Given the description of an element on the screen output the (x, y) to click on. 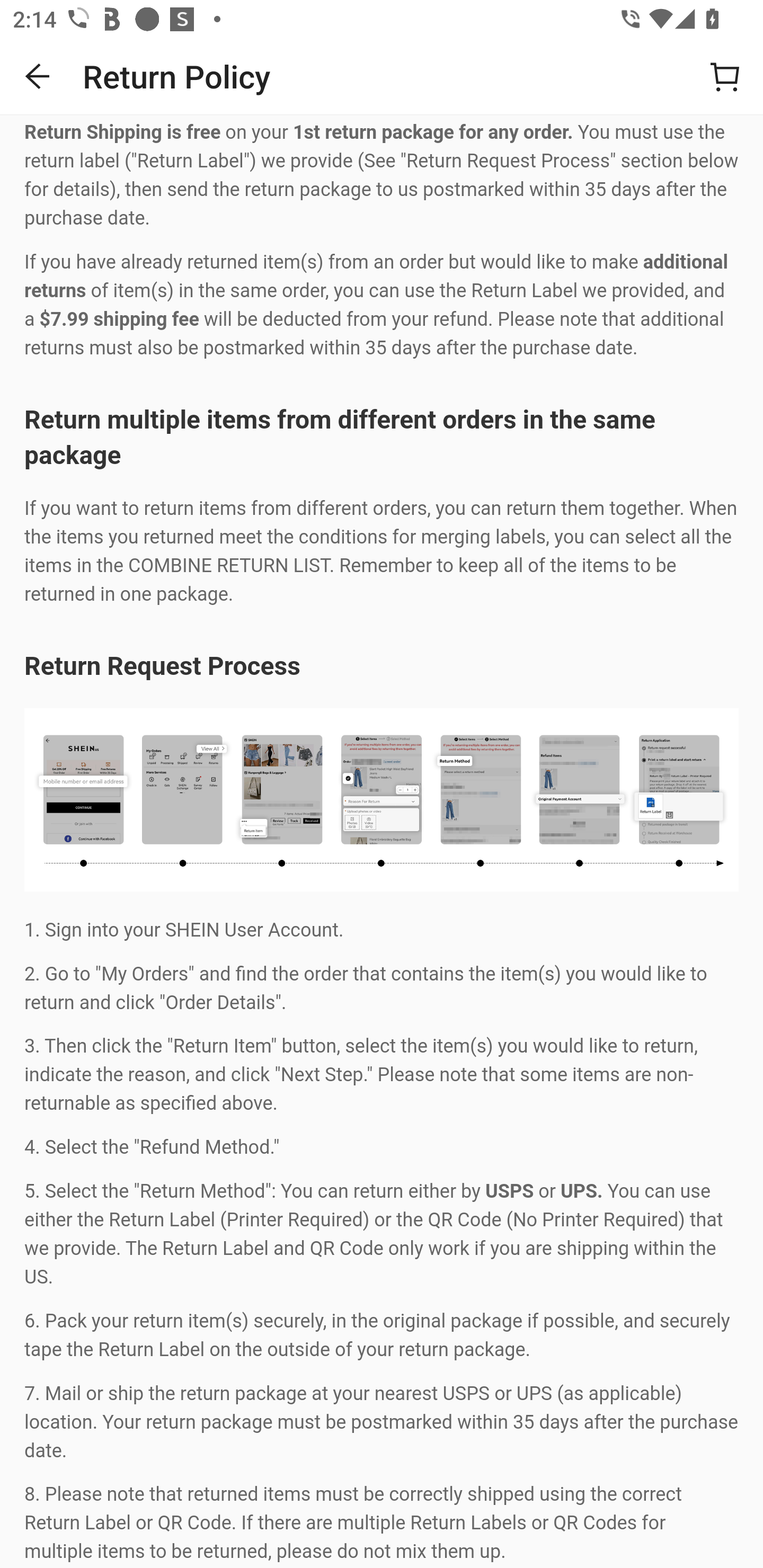
BACK (38, 75)
Cart (724, 75)
